Given the description of an element on the screen output the (x, y) to click on. 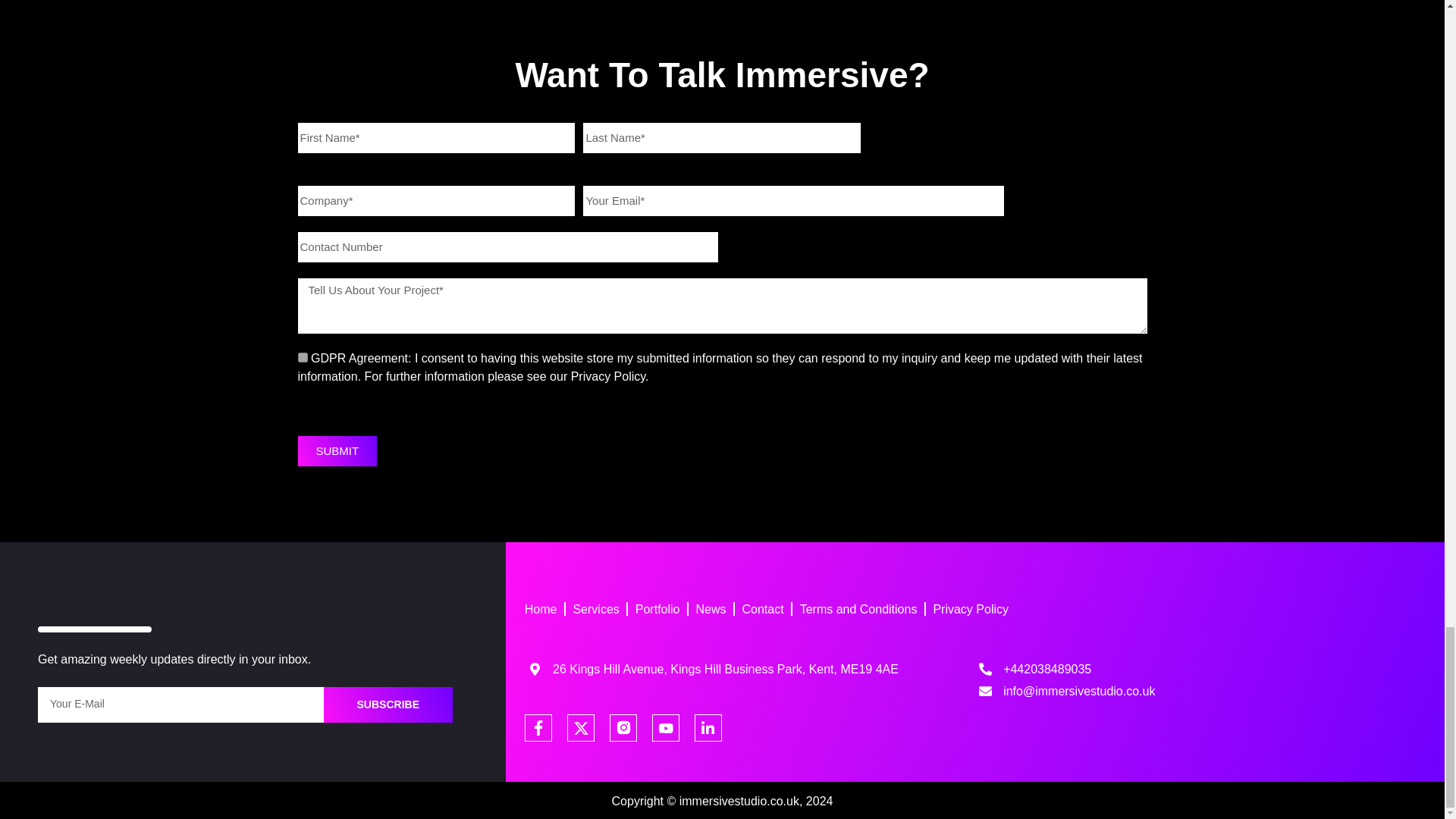
on (302, 357)
Our Services (595, 609)
Contact Us (763, 609)
Home (540, 609)
